Given the description of an element on the screen output the (x, y) to click on. 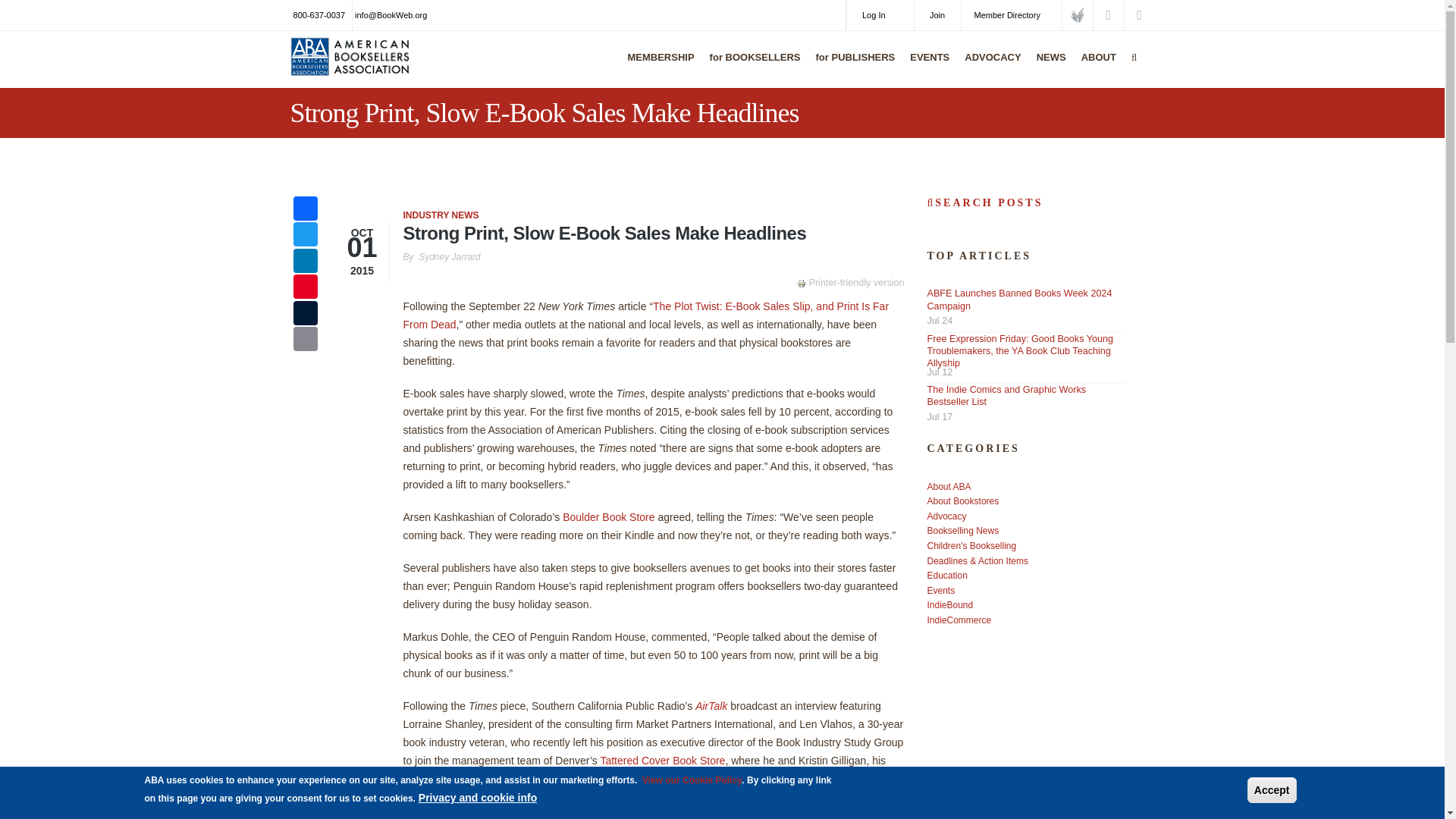
for PUBLISHERS (852, 66)
MEMBERSHIP (656, 66)
Accept (1272, 790)
for BOOKSELLERS (751, 66)
EVENTS (925, 66)
for BOOKSELLERS (751, 66)
NEWS (1047, 66)
Join (937, 15)
Privacy and cookie info (478, 797)
View our Cookie Policy (691, 779)
MEMBERSHIP (656, 66)
Log In (880, 15)
Member Directory (1010, 15)
Display a printer-friendly version of this page. (850, 282)
